Given the description of an element on the screen output the (x, y) to click on. 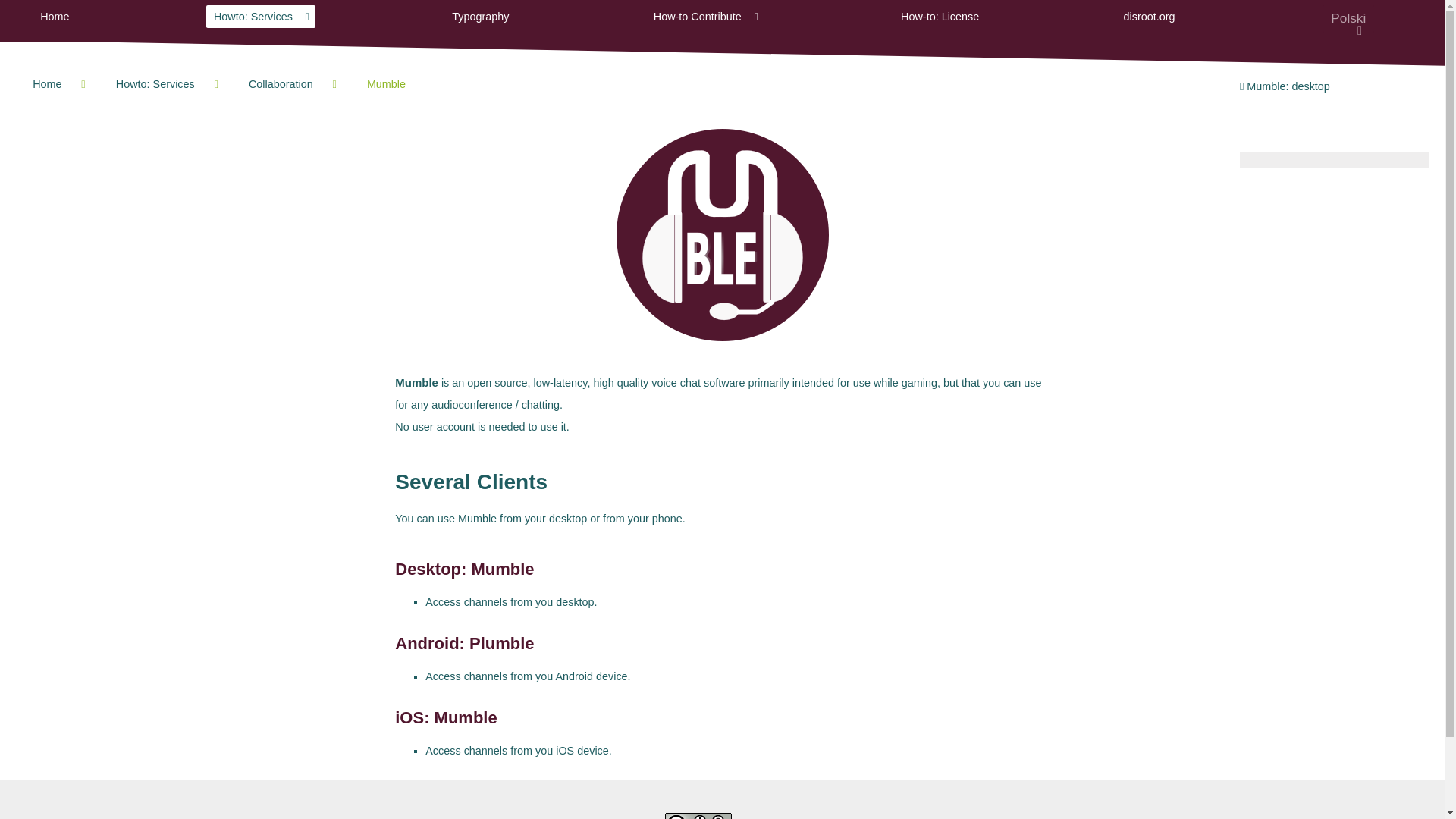
Howto: Services (260, 15)
Home (54, 15)
